Given the description of an element on the screen output the (x, y) to click on. 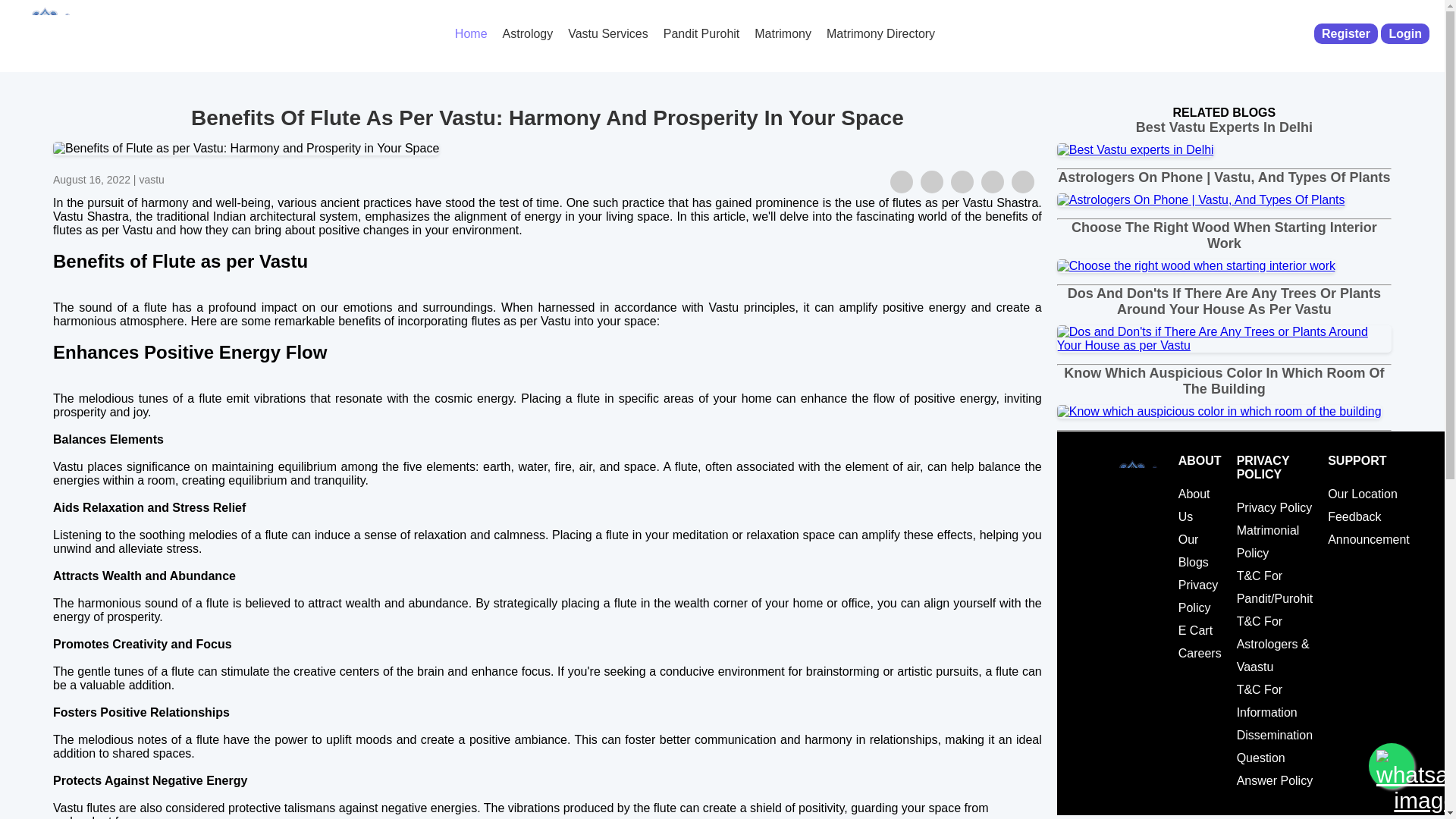
Matrimony (782, 33)
Vastu Services (608, 33)
vedic astrologer kapoor logo (44, 31)
Astrology (527, 33)
Pandit Purohit (702, 33)
Home (470, 33)
